Given the description of an element on the screen output the (x, y) to click on. 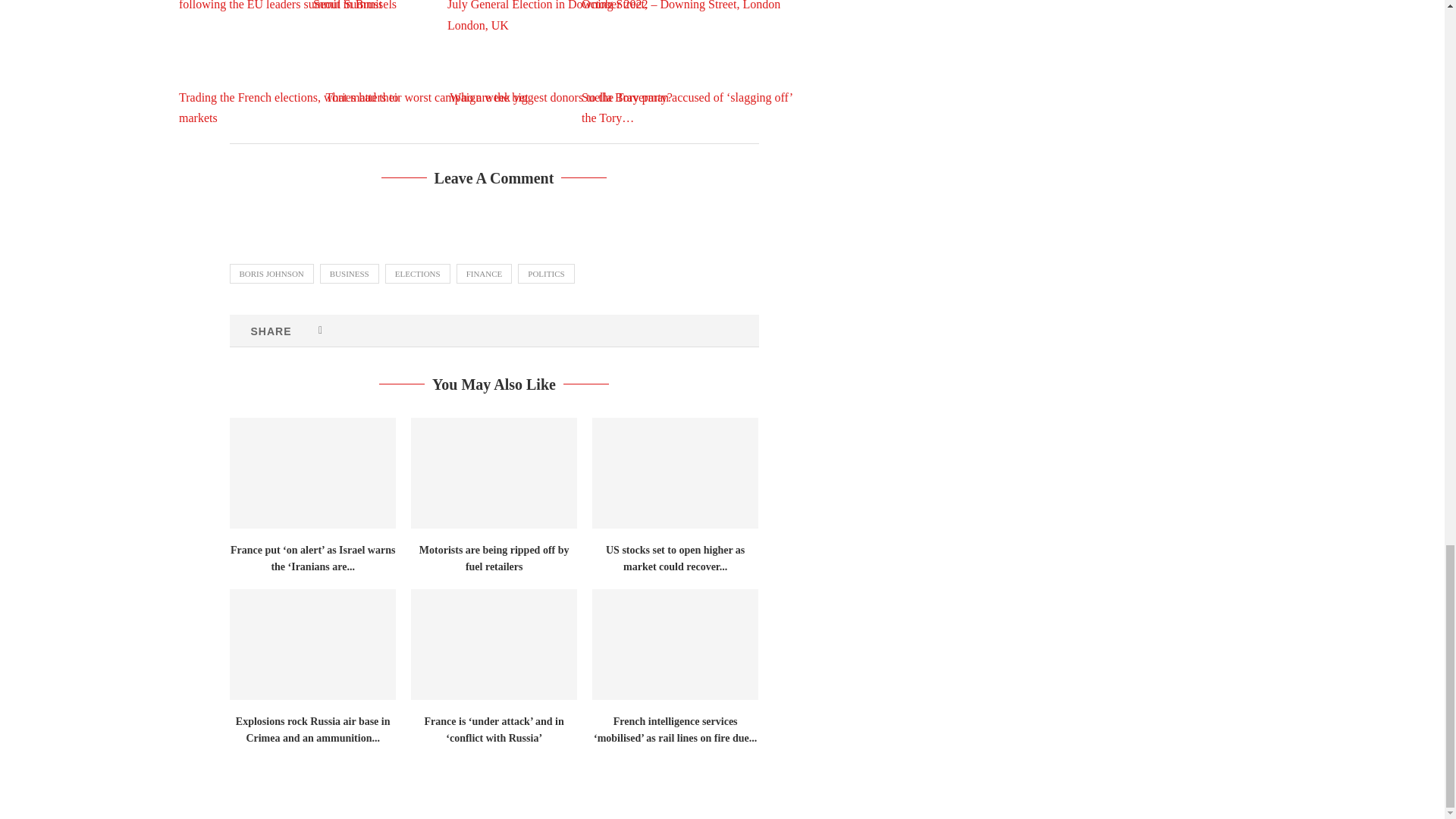
Who are the biggest donors to the Tory party? (560, 62)
Trading the French elections, what matters to markets (292, 62)
Motorists are being ripped off by fuel retailers (493, 472)
Tories had their worst campaign week yet (426, 62)
